Given the description of an element on the screen output the (x, y) to click on. 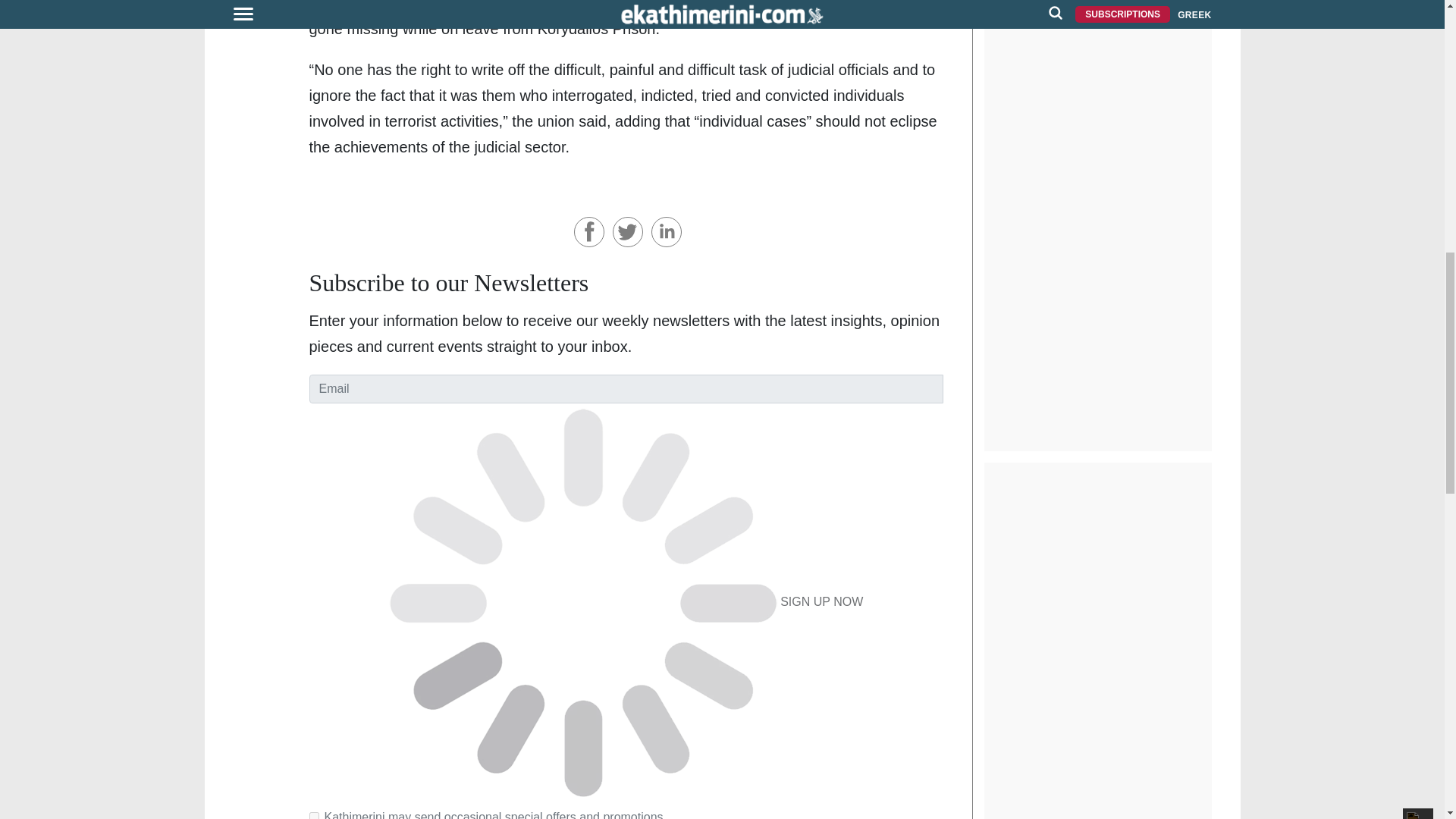
on (313, 815)
